Given the description of an element on the screen output the (x, y) to click on. 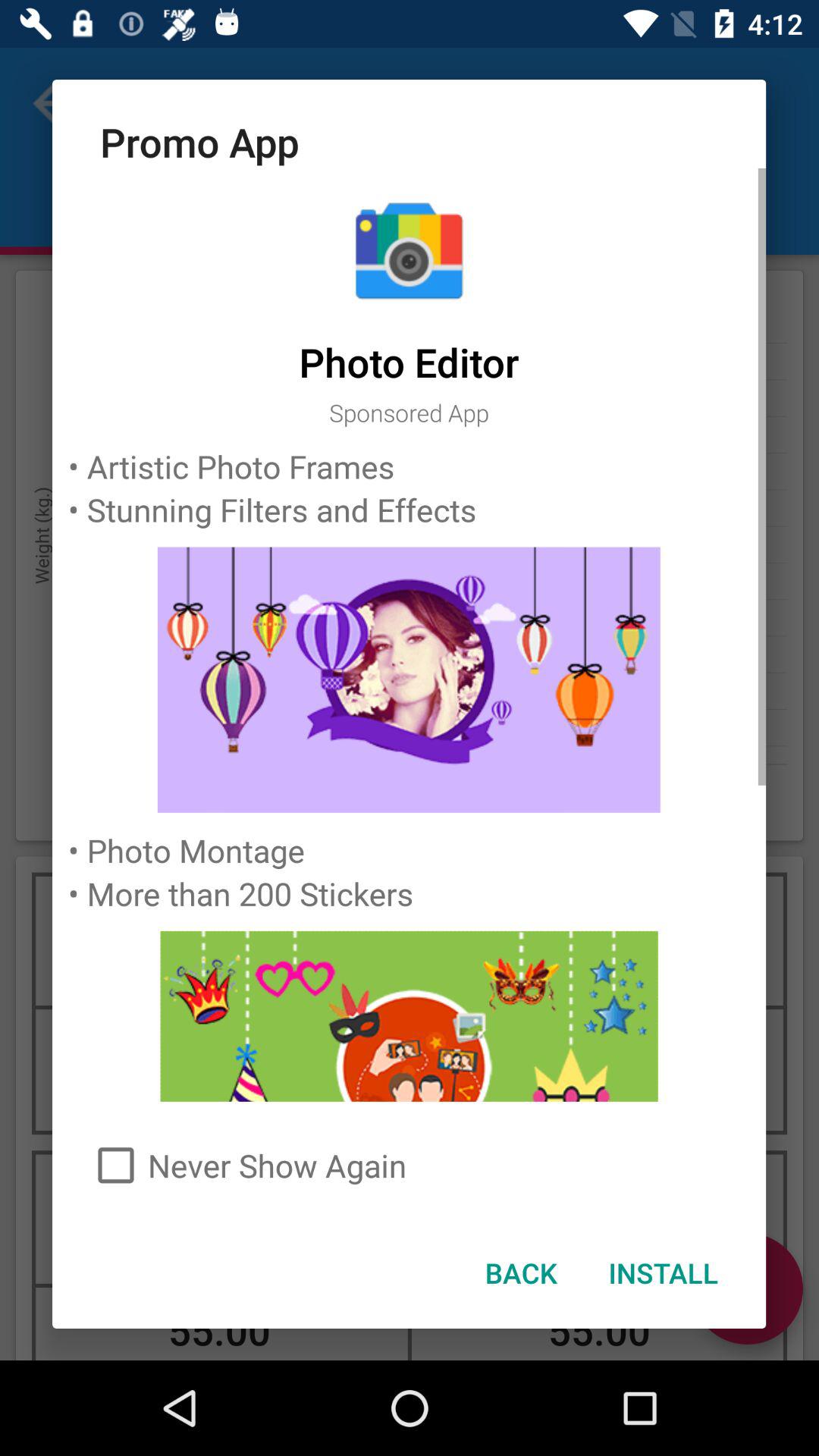
flip to the never show again icon (409, 1165)
